Given the description of an element on the screen output the (x, y) to click on. 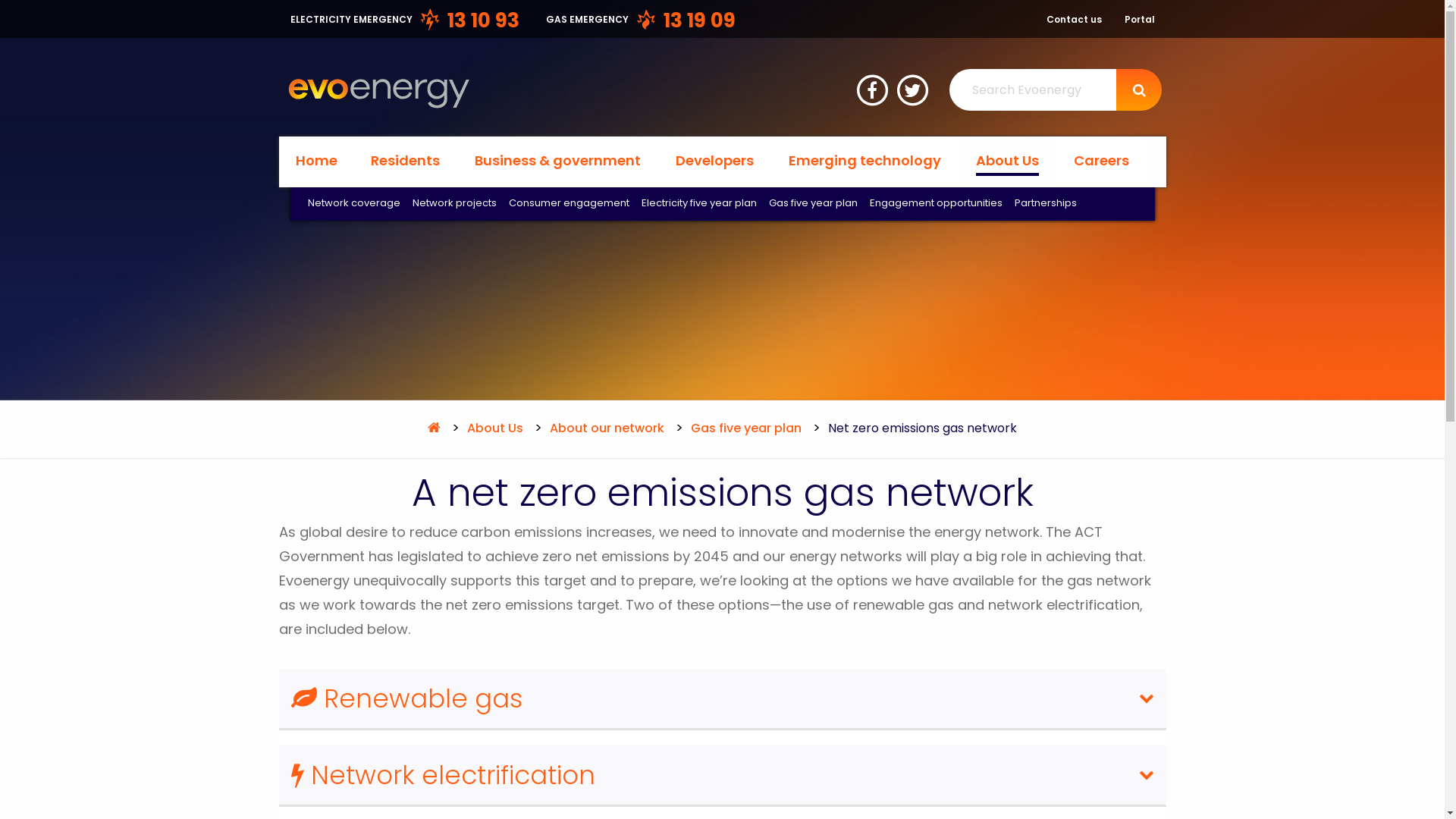
Contact us Element type: text (1073, 19)
Home Element type: text (316, 160)
Renewable gas Element type: text (722, 699)
About our network Element type: text (605, 427)
About Us Element type: text (1007, 162)
Network coverage Element type: text (353, 203)
About Us Element type: text (493, 427)
Developers Element type: text (714, 160)
Partnerships Element type: text (1045, 203)
Gas five year plan Element type: text (812, 203)
Portal Element type: text (1138, 19)
Gas five year plan Element type: text (744, 427)
Twitter Element type: hover (914, 87)
Facebook Element type: hover (873, 87)
Careers Element type: text (1102, 160)
Electricity five year plan Element type: text (698, 203)
Residents Element type: text (405, 160)
Emerging technology Element type: text (865, 160)
Engagement opportunities Element type: text (934, 203)
Consumer engagement Element type: text (568, 203)
Network projects Element type: text (454, 203)
Network electrification Element type: text (722, 775)
Business & government Element type: text (558, 160)
